Given the description of an element on the screen output the (x, y) to click on. 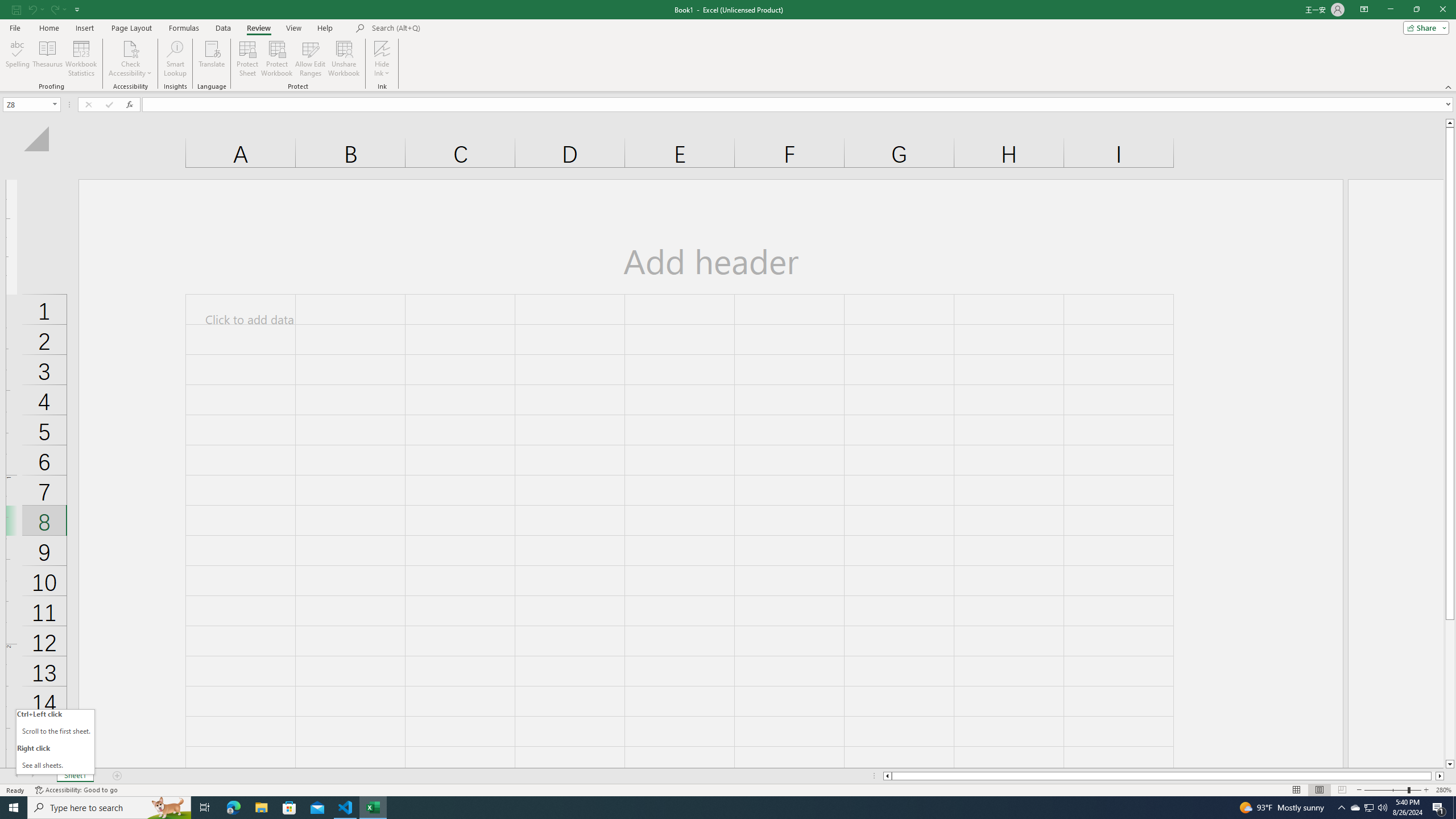
Formula Bar (798, 104)
Undo (35, 9)
Undo (31, 9)
Data (223, 28)
File Tab (15, 27)
